Given the description of an element on the screen output the (x, y) to click on. 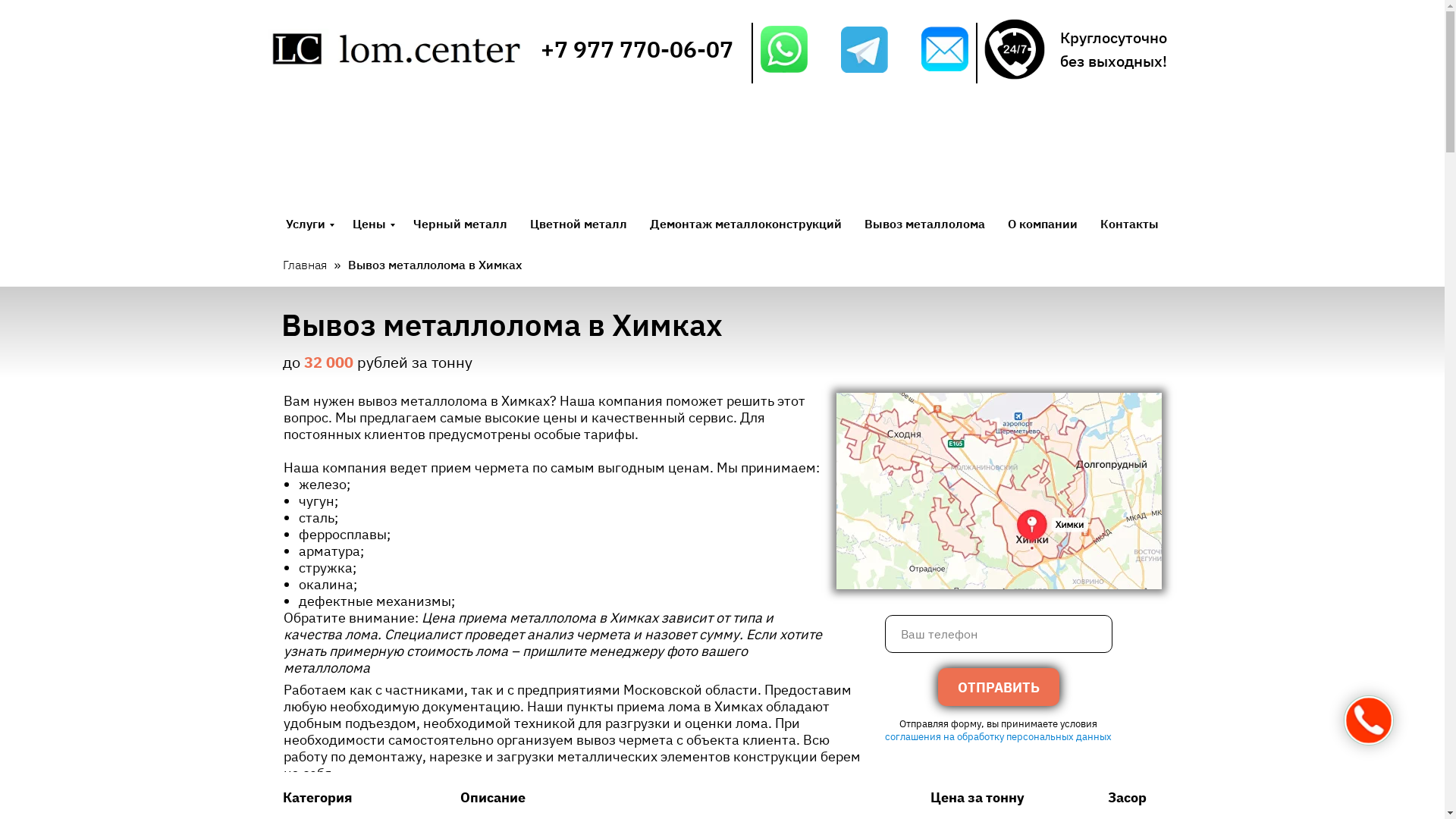
+7 977 770-06-07 Element type: text (636, 49)
